Given the description of an element on the screen output the (x, y) to click on. 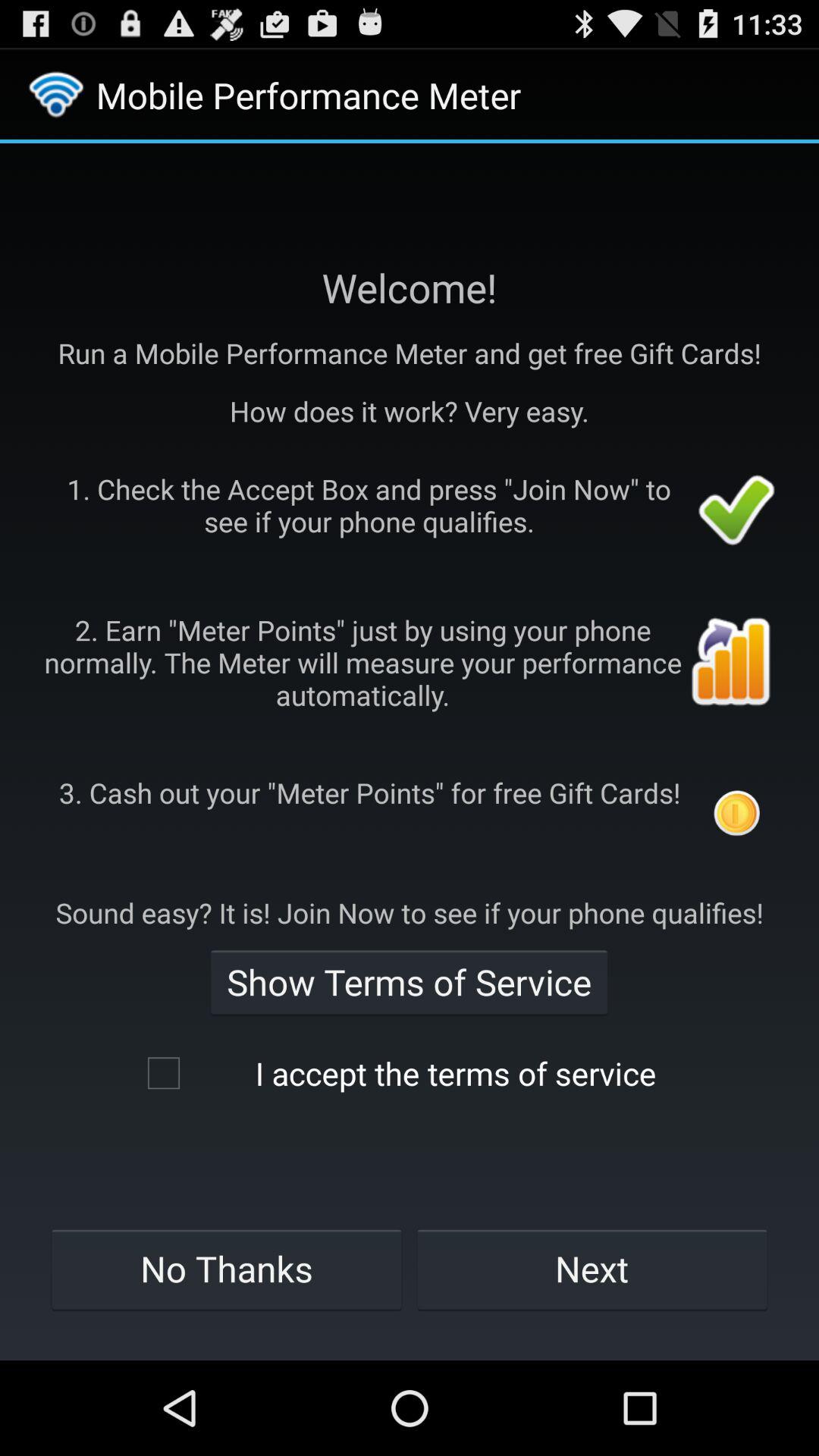
press icon below the i accept the icon (226, 1268)
